Given the description of an element on the screen output the (x, y) to click on. 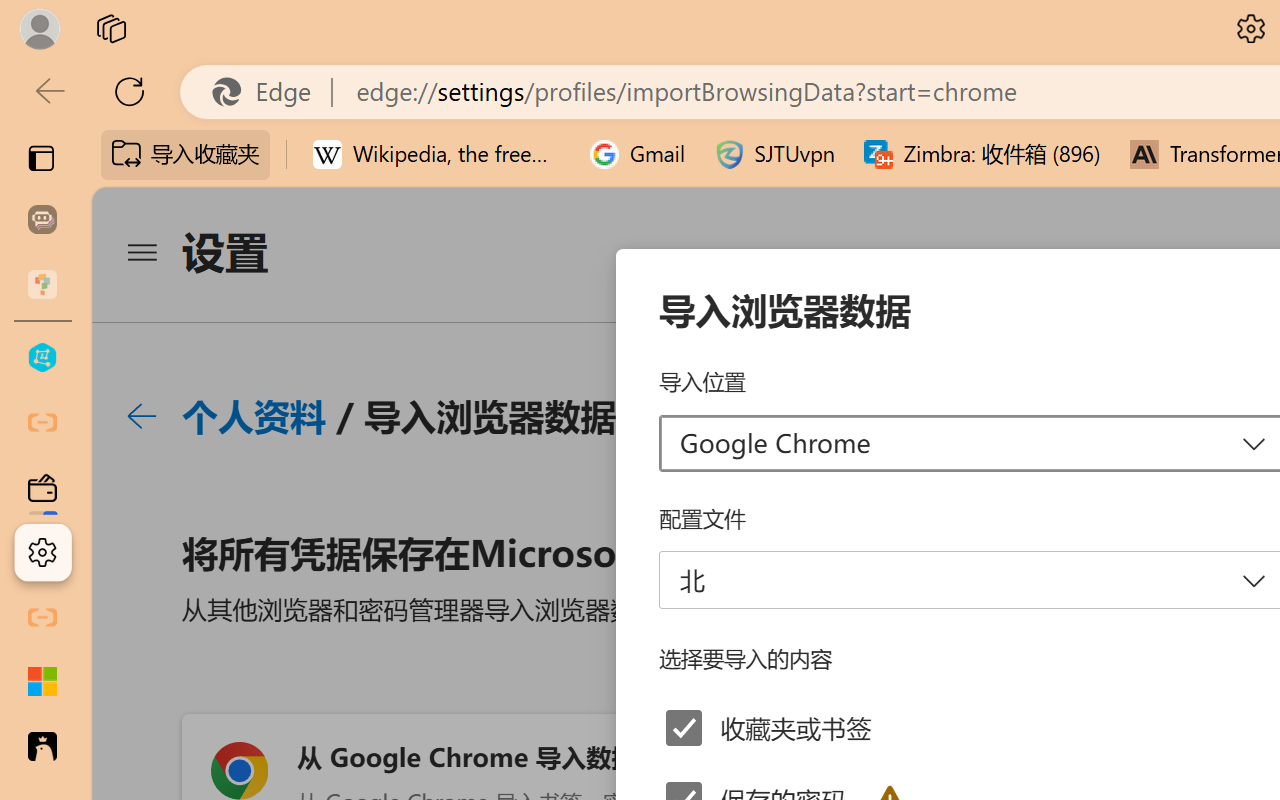
Gmail (637, 154)
Wikipedia, the free encyclopedia (437, 154)
